Given the description of an element on the screen output the (x, y) to click on. 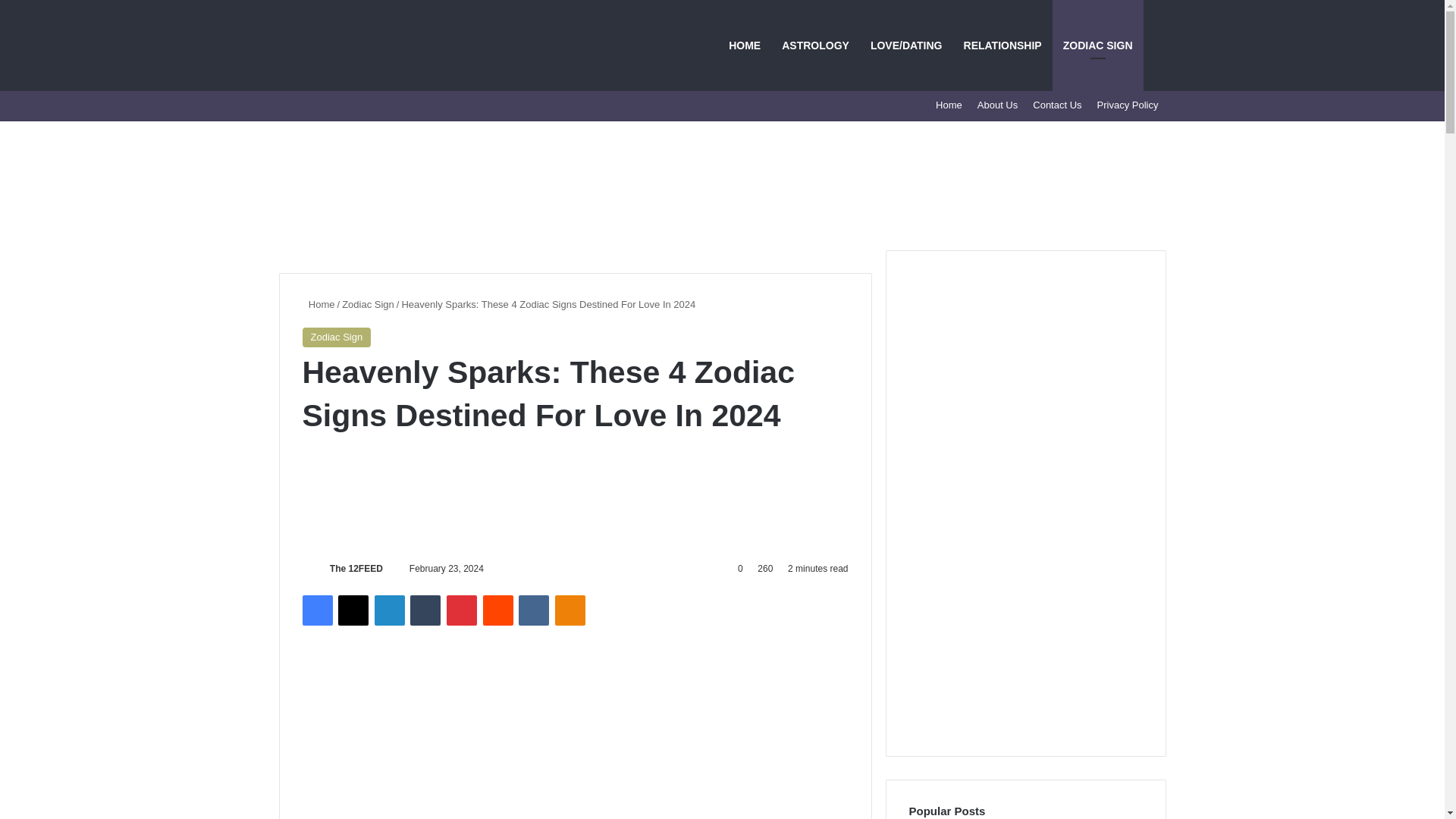
Random Article (403, 105)
Odnoklassniki (569, 610)
Search for (1154, 45)
HOME (744, 45)
Pinterest (461, 610)
Instagram (358, 105)
Reddit (498, 610)
Contact Us (1057, 105)
ZODIAC SIGN (1097, 45)
LinkedIn (389, 610)
Home (317, 304)
Log In (381, 105)
Zodiac Sign (368, 304)
The 12FEED (356, 568)
